Given the description of an element on the screen output the (x, y) to click on. 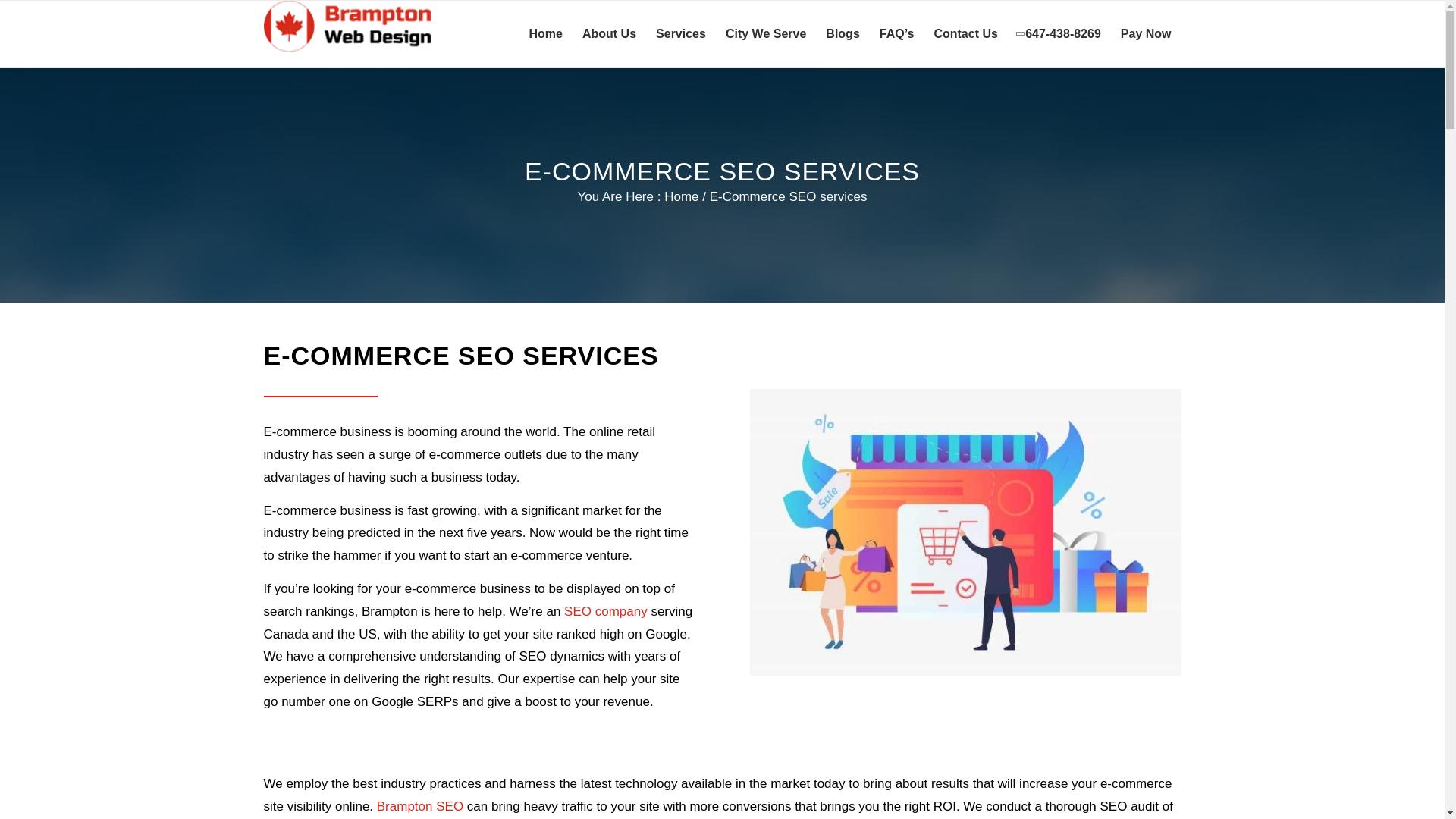
Home (680, 196)
647-438-8269 (1058, 33)
City We Serve (765, 33)
Brampton SEO (420, 806)
Pay Now (1145, 33)
About Us (609, 33)
Services (681, 33)
logo-1 (346, 25)
SEO company (605, 611)
Contact Us (965, 33)
